Given the description of an element on the screen output the (x, y) to click on. 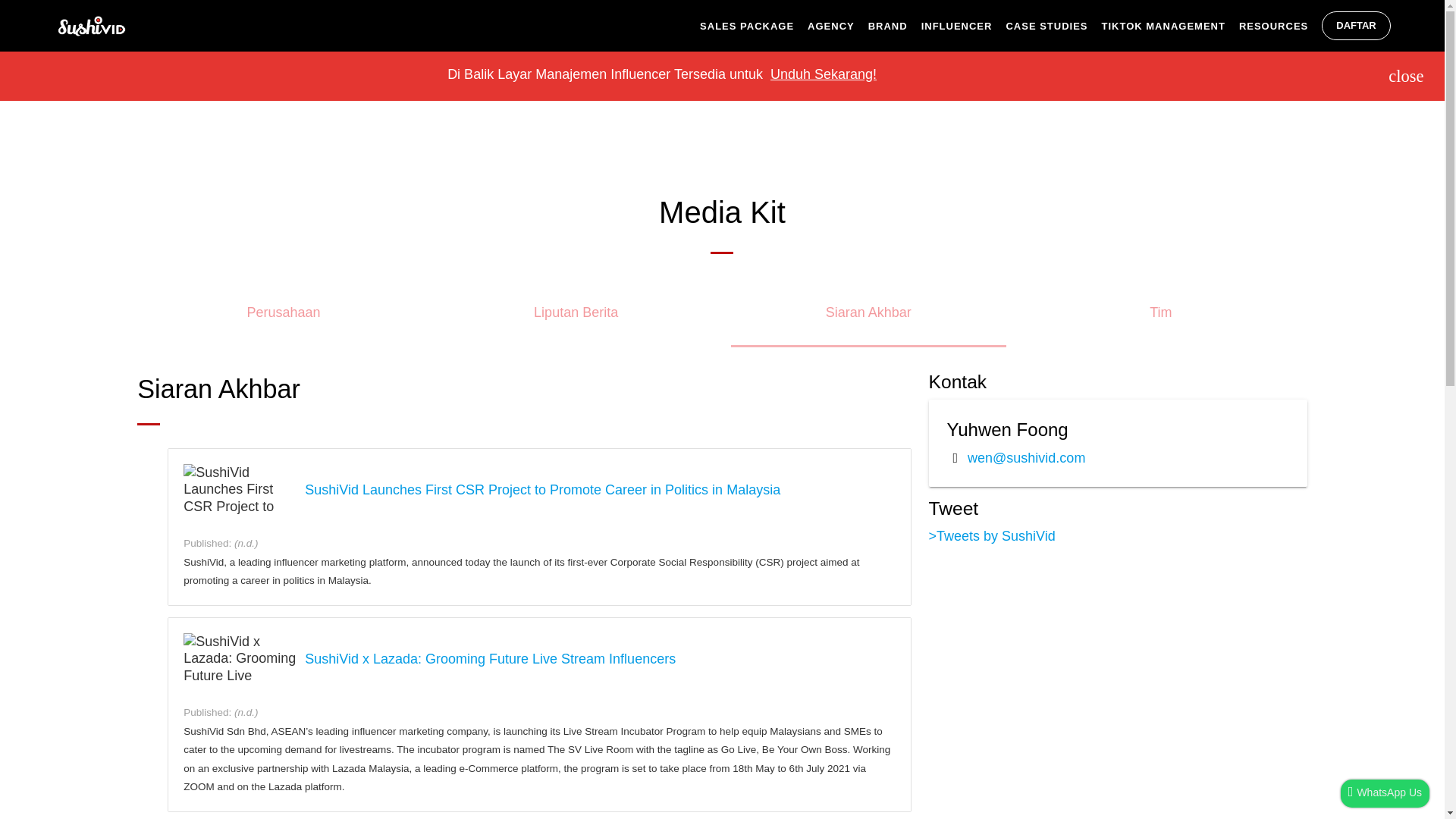
AGENCY (837, 26)
INFLUENCER (963, 26)
SushiVid x Lazada: Grooming Future Live Stream Influencers (489, 659)
Brand (894, 26)
Resources (1280, 26)
Case Studies (1053, 26)
Unduh Sekarang! (823, 73)
Perusahaan (282, 318)
TIKTOK MANAGEMENT (1170, 26)
Siaran Akhbar (868, 318)
Sales Package (754, 26)
BRAND (894, 26)
CASE STUDIES (1053, 26)
RESOURCES (1280, 26)
Influencer (963, 26)
